Given the description of an element on the screen output the (x, y) to click on. 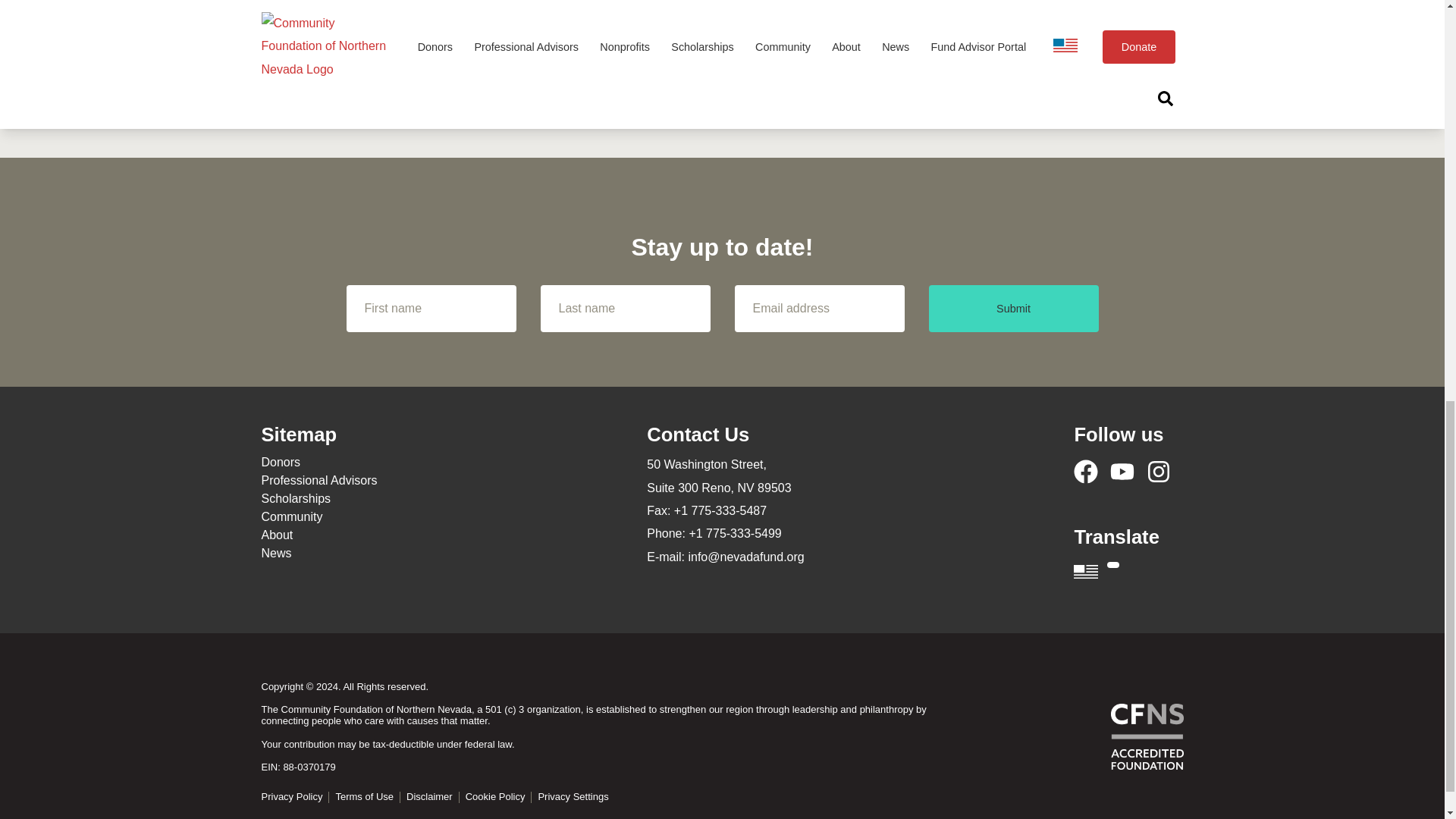
YouTube (1121, 471)
Facebook (1085, 471)
Instagram (1158, 471)
Language Translation (1128, 569)
